Given the description of an element on the screen output the (x, y) to click on. 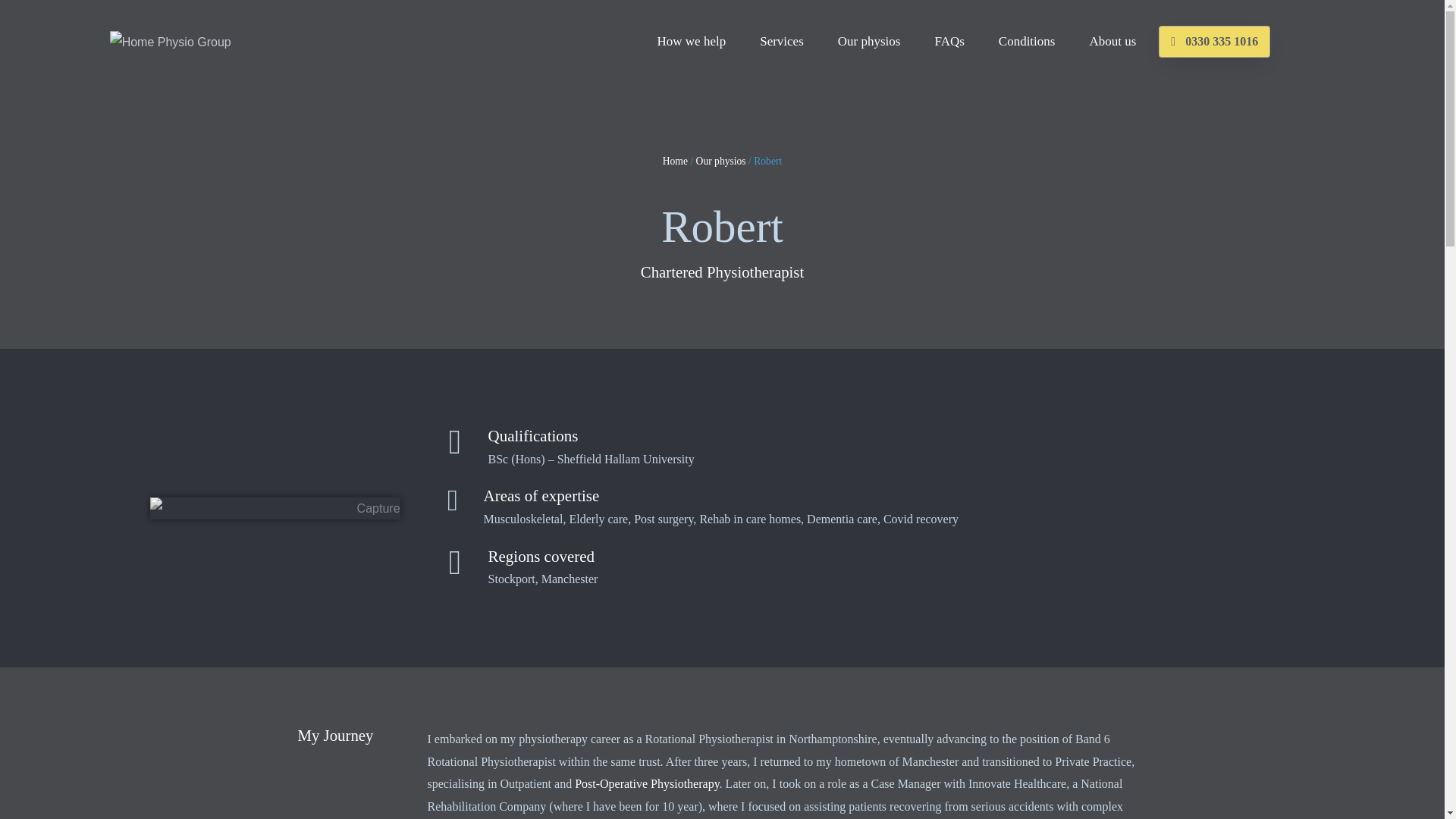
FAQs (948, 41)
Manchester (569, 578)
Stockport, (514, 578)
0330 335 1016 (1213, 41)
HPG-Logo (170, 42)
Post surgery, (665, 518)
Capture (274, 508)
About us (1112, 41)
Services (781, 41)
Home (674, 161)
